Given the description of an element on the screen output the (x, y) to click on. 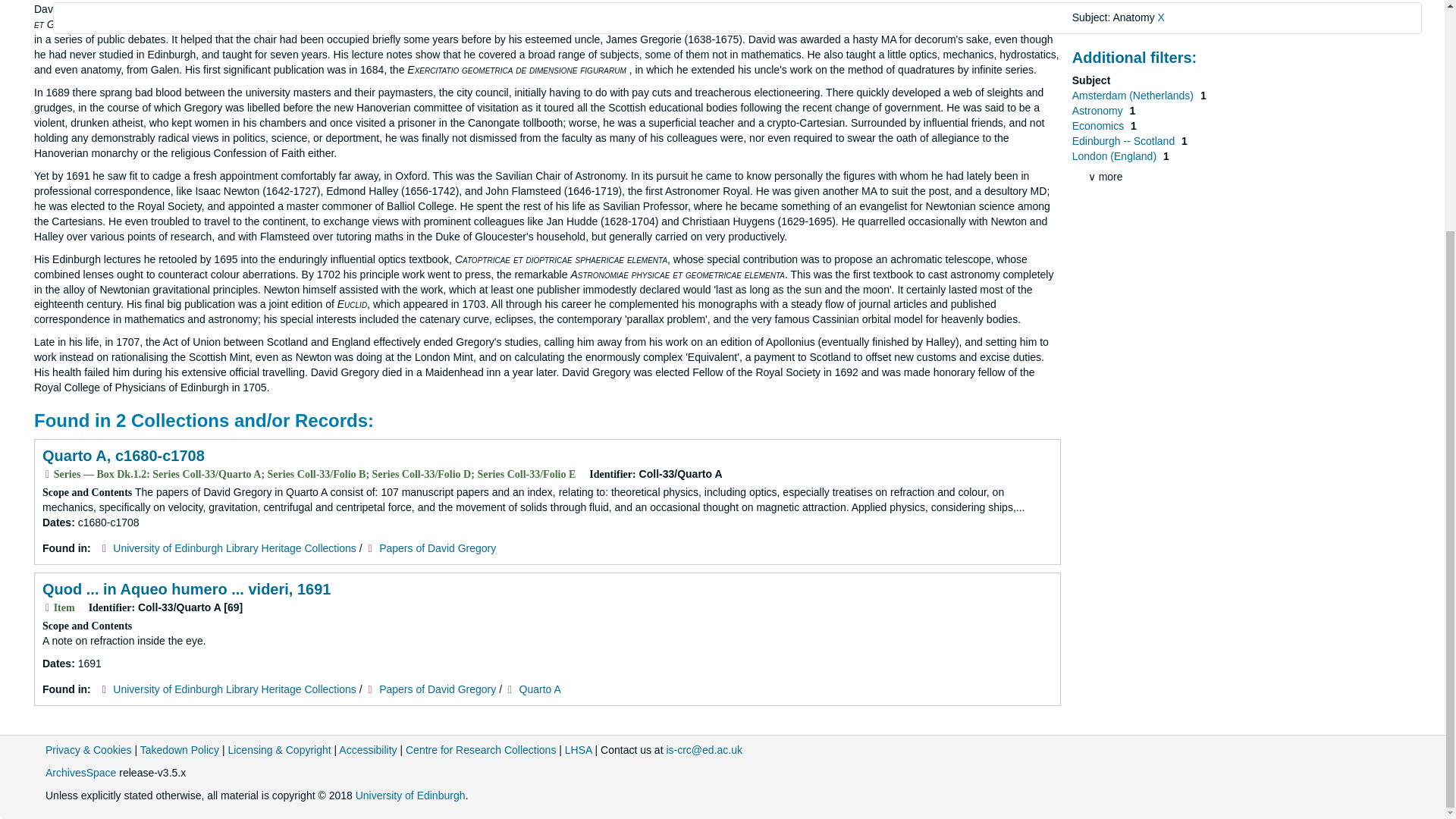
Accessibility (367, 749)
Quod ... in Aqueo humero ... videri, 1691 (186, 588)
Astronomy (1098, 110)
Centre for Research Collections (481, 749)
Edinburgh -- Scotland (1124, 141)
University of Edinburgh Library Heritage Collections (234, 689)
Quarto A, c1680-c1708 (123, 455)
Filter By 'Edinburgh -- Scotland' (1124, 141)
Website Accessibility Link (367, 749)
Papers of David Gregory (437, 548)
Privacy and Cookies Link (88, 749)
Filter By 'Economics' (1098, 125)
Takedown Policy Link (179, 749)
Licensing and Copyright Link (278, 749)
Quarto A (539, 689)
